Given the description of an element on the screen output the (x, y) to click on. 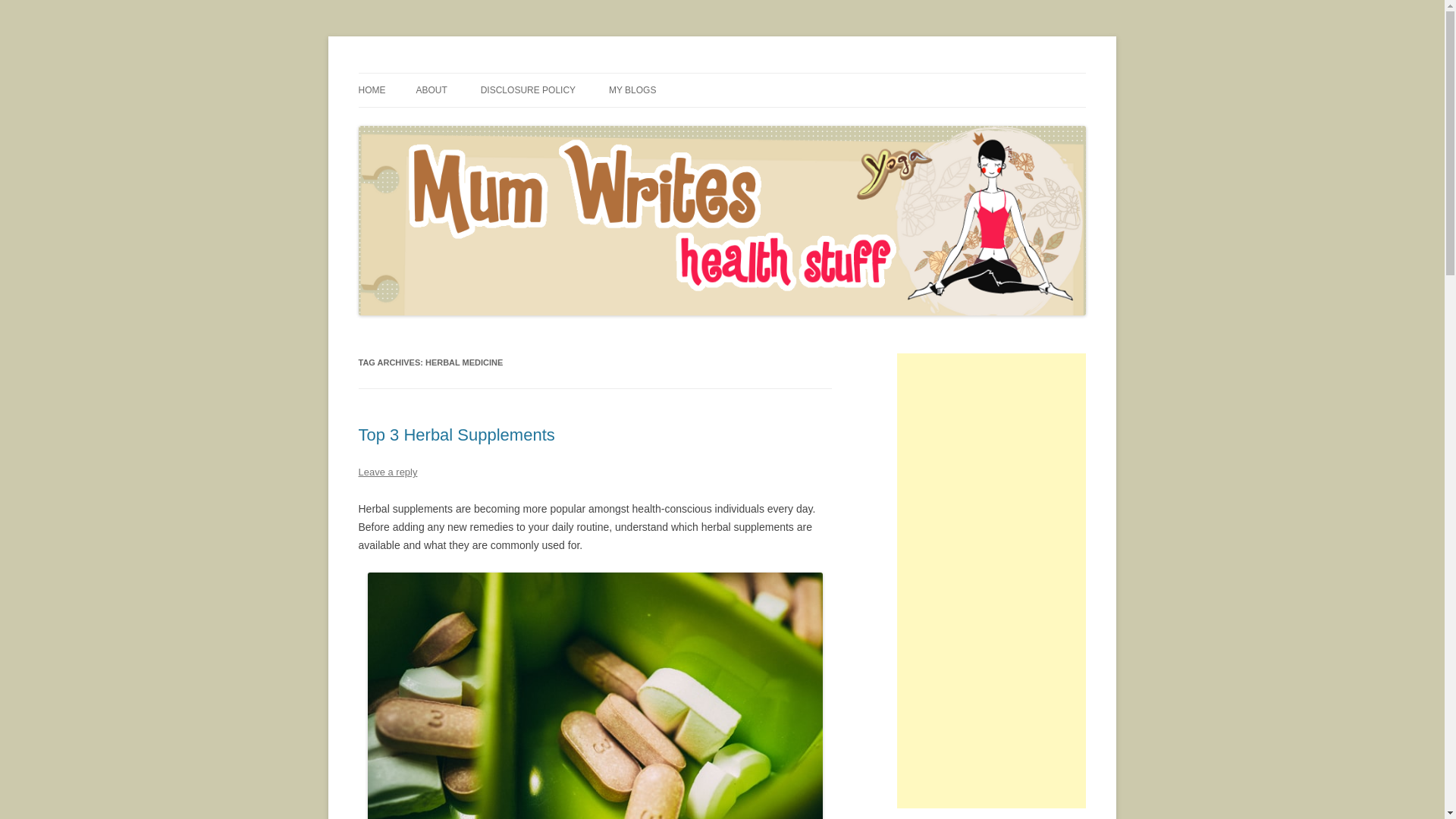
DISCLOSURE POLICY (527, 90)
ABOUT (430, 90)
Top 3 Herbal Supplements (456, 434)
Mum Writes Health Stuff (471, 72)
Leave a reply (387, 471)
MY BLOGS (632, 90)
